Given the description of an element on the screen output the (x, y) to click on. 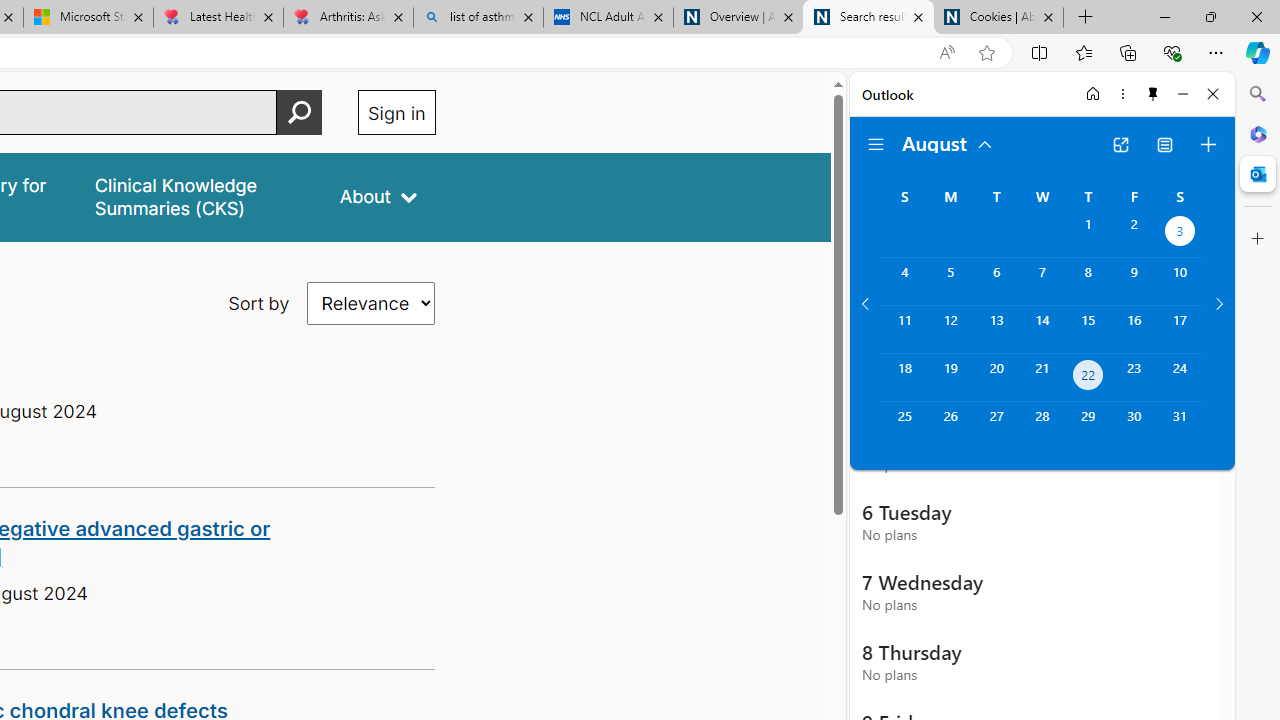
Thursday, August 8, 2024.  (1088, 281)
Close Customize pane (1258, 239)
Friday, August 9, 2024.  (1134, 281)
Tuesday, August 6, 2024.  (996, 281)
Saturday, August 17, 2024.  (1180, 329)
Arthritis: Ask Health Professionals (348, 17)
View Switcher. Current view is Agenda view (1165, 144)
Sunday, August 25, 2024.  (904, 425)
